Given the description of an element on the screen output the (x, y) to click on. 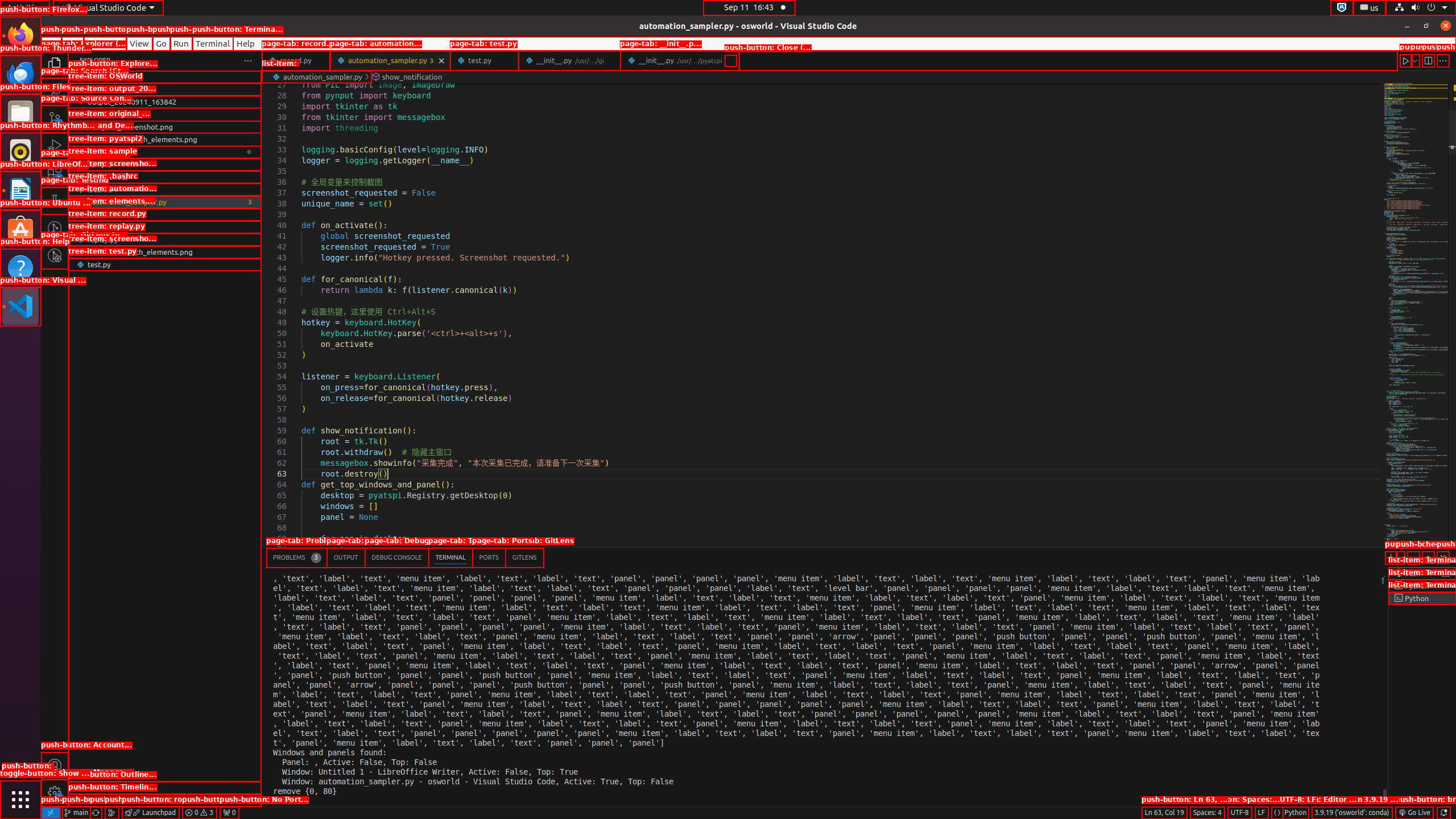
OSWorld Element type: tree-item (164, 89)
Source Control (Ctrl+Shift+G G) - 1 pending changes Element type: page-tab (54, 118)
Files Explorer Element type: tree (164, 432)
.bashrc Element type: tree-item (164, 189)
elements.json Element type: tree-item (164, 214)
